Given the description of an element on the screen output the (x, y) to click on. 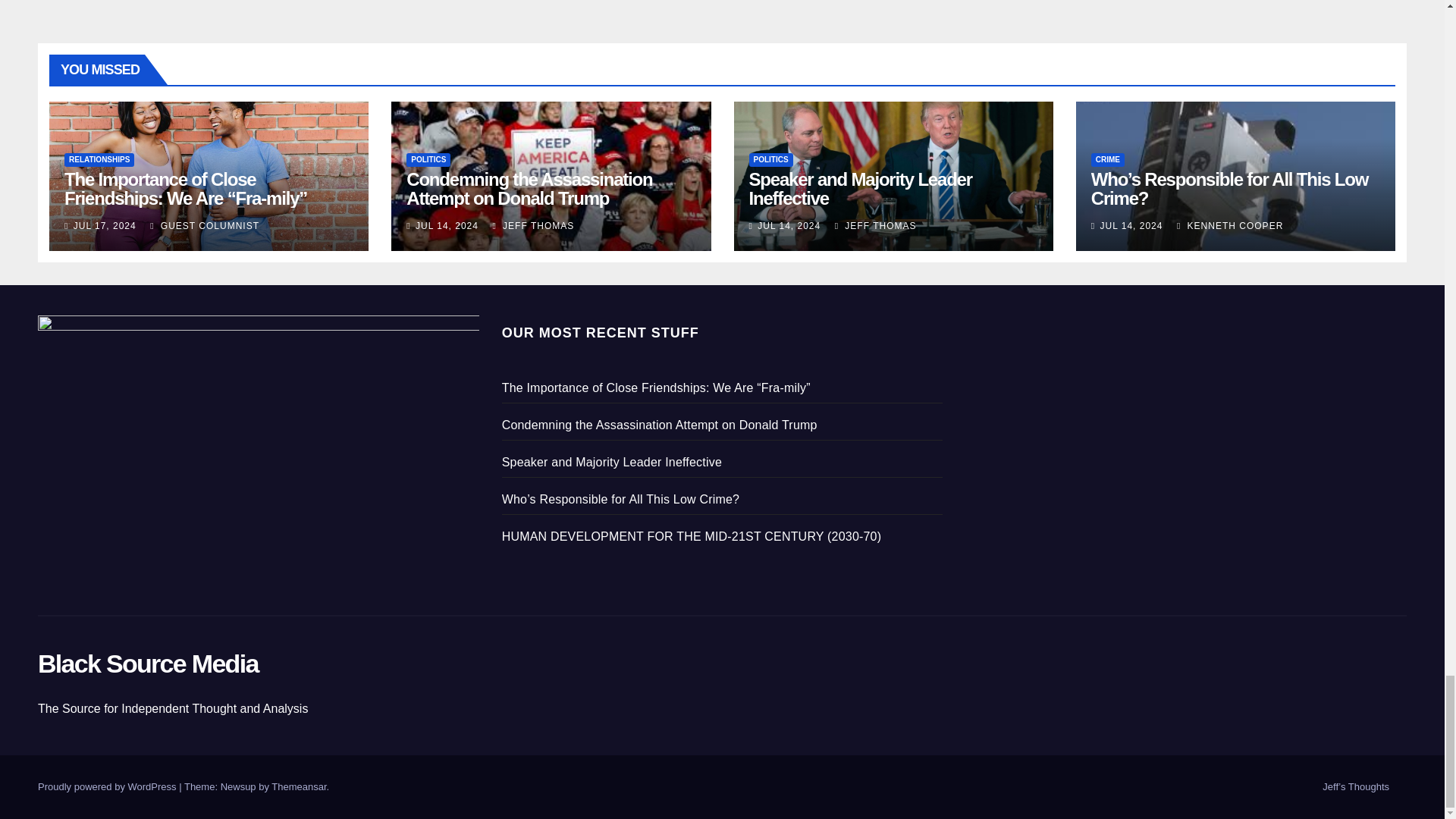
Permalink to: Speaker and Majority Leader Ineffective (860, 188)
